Given the description of an element on the screen output the (x, y) to click on. 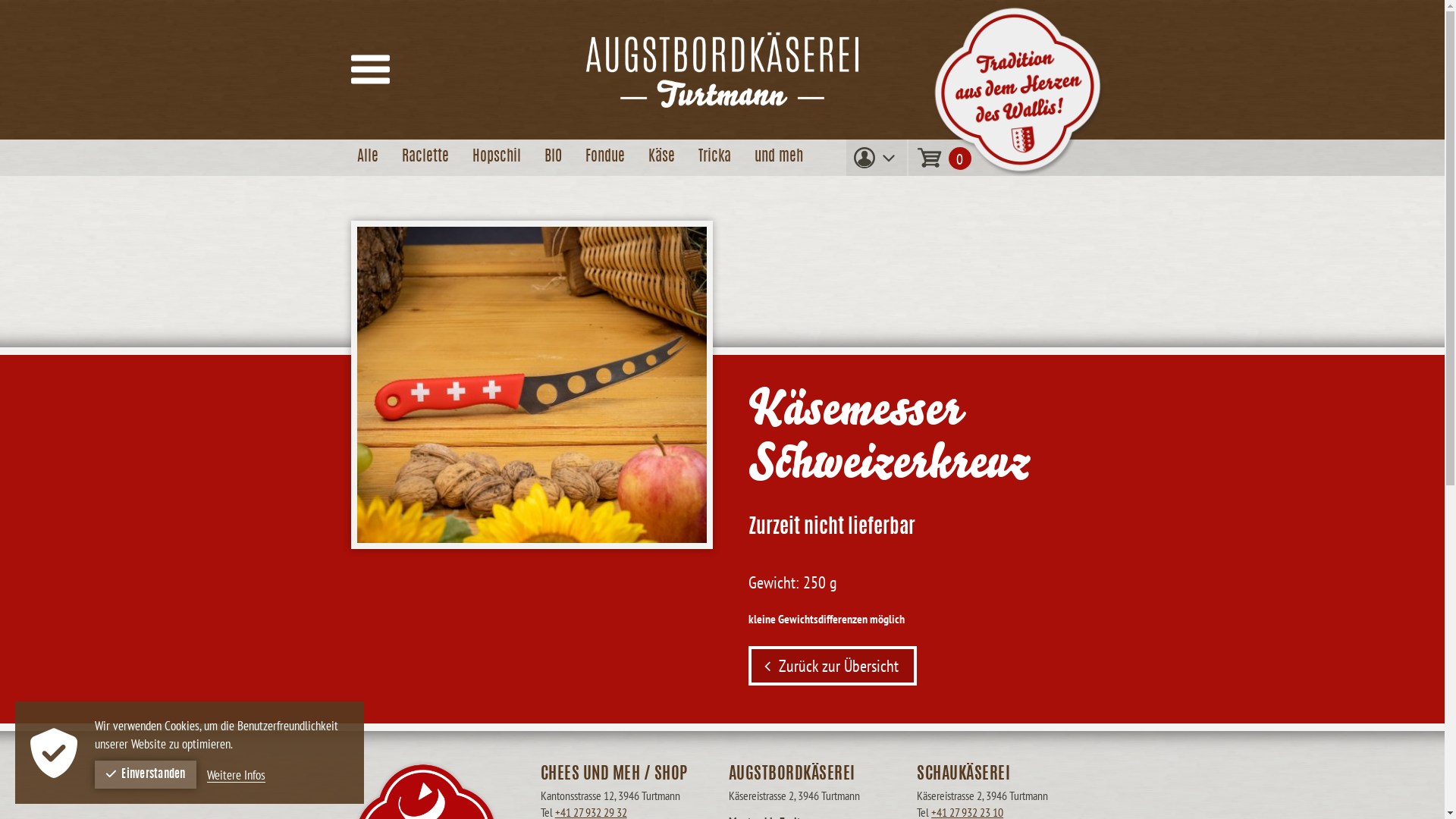
Fondue Element type: text (604, 157)
und meh Element type: text (777, 157)
Einverstanden Element type: text (145, 774)
Alle Element type: text (366, 157)
Hopschil Element type: text (495, 157)
Raclette Element type: text (425, 157)
BIO Element type: text (552, 157)
Tricka Element type: text (713, 157)
Einloggen Element type: text (876, 345)
Weitere Infos Element type: text (235, 774)
